Given the description of an element on the screen output the (x, y) to click on. 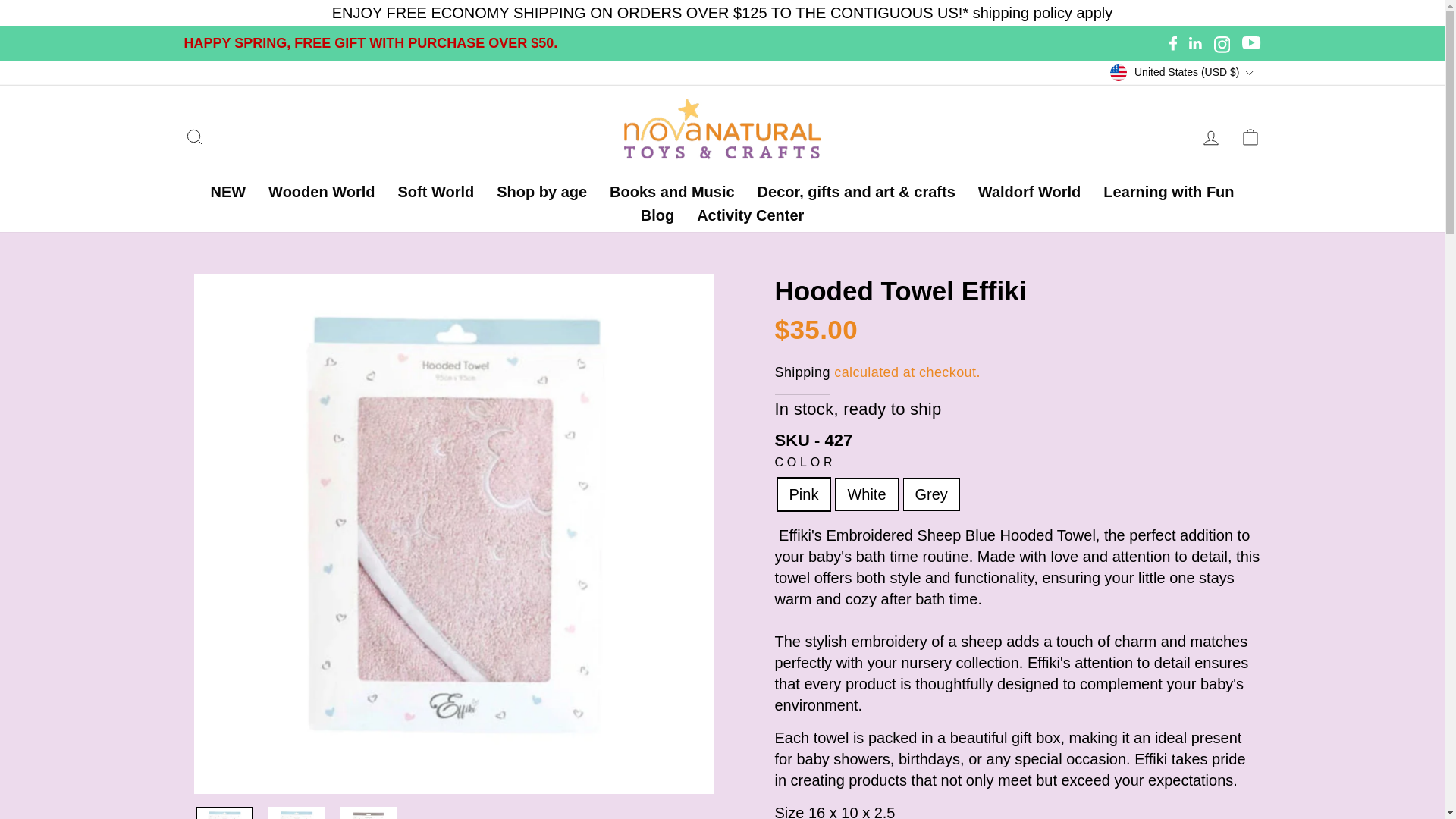
Instagram (1222, 42)
YouTube (1250, 42)
LinkedIn (1195, 42)
